Given the description of an element on the screen output the (x, y) to click on. 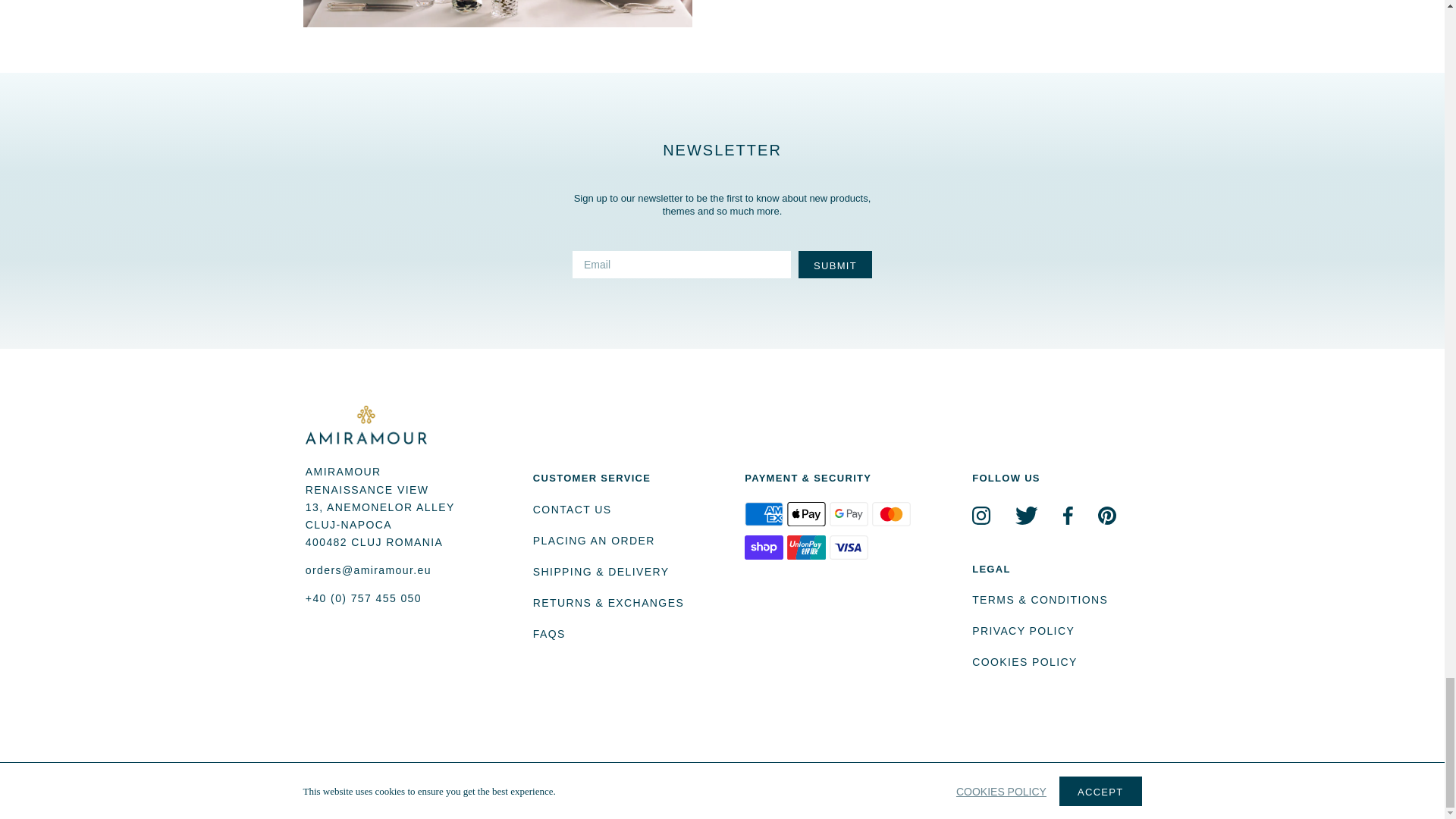
Mastercard (891, 514)
Visa (848, 547)
Union Pay (806, 547)
Apple Pay (806, 514)
Shop Pay (763, 547)
Google Pay (848, 514)
American Express (763, 514)
